Given the description of an element on the screen output the (x, y) to click on. 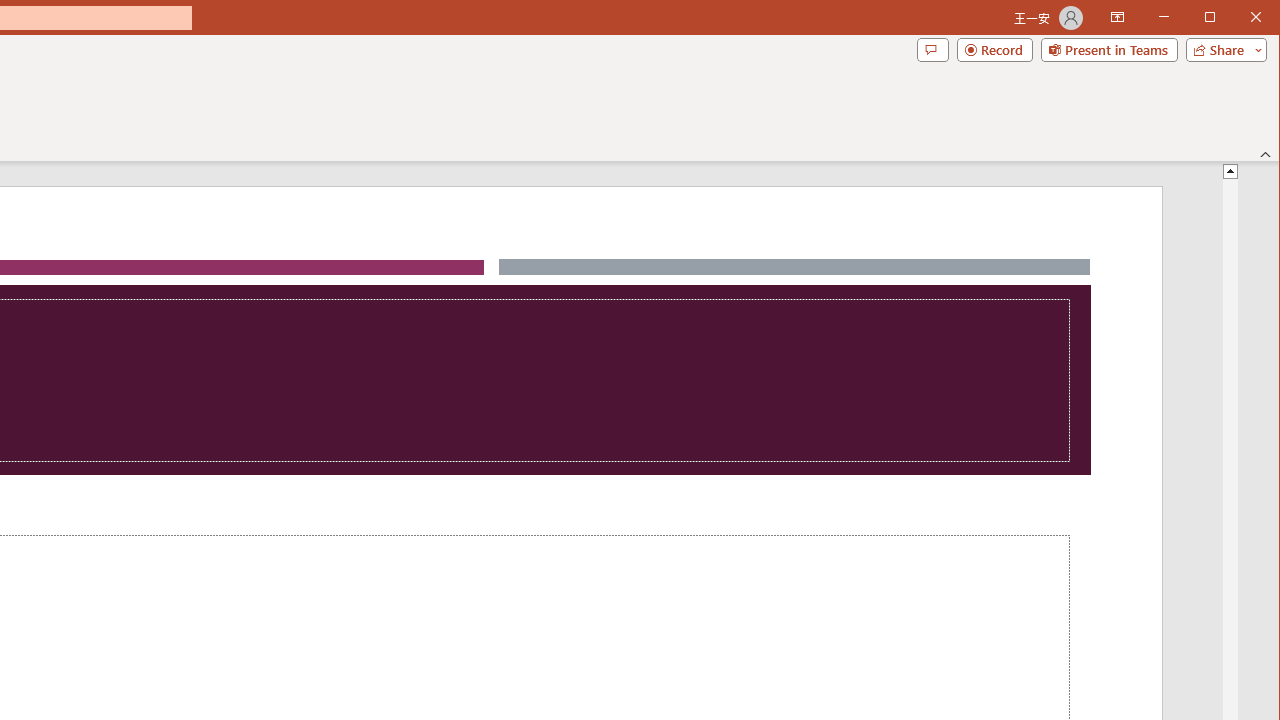
Maximize (1238, 18)
